Given the description of an element on the screen output the (x, y) to click on. 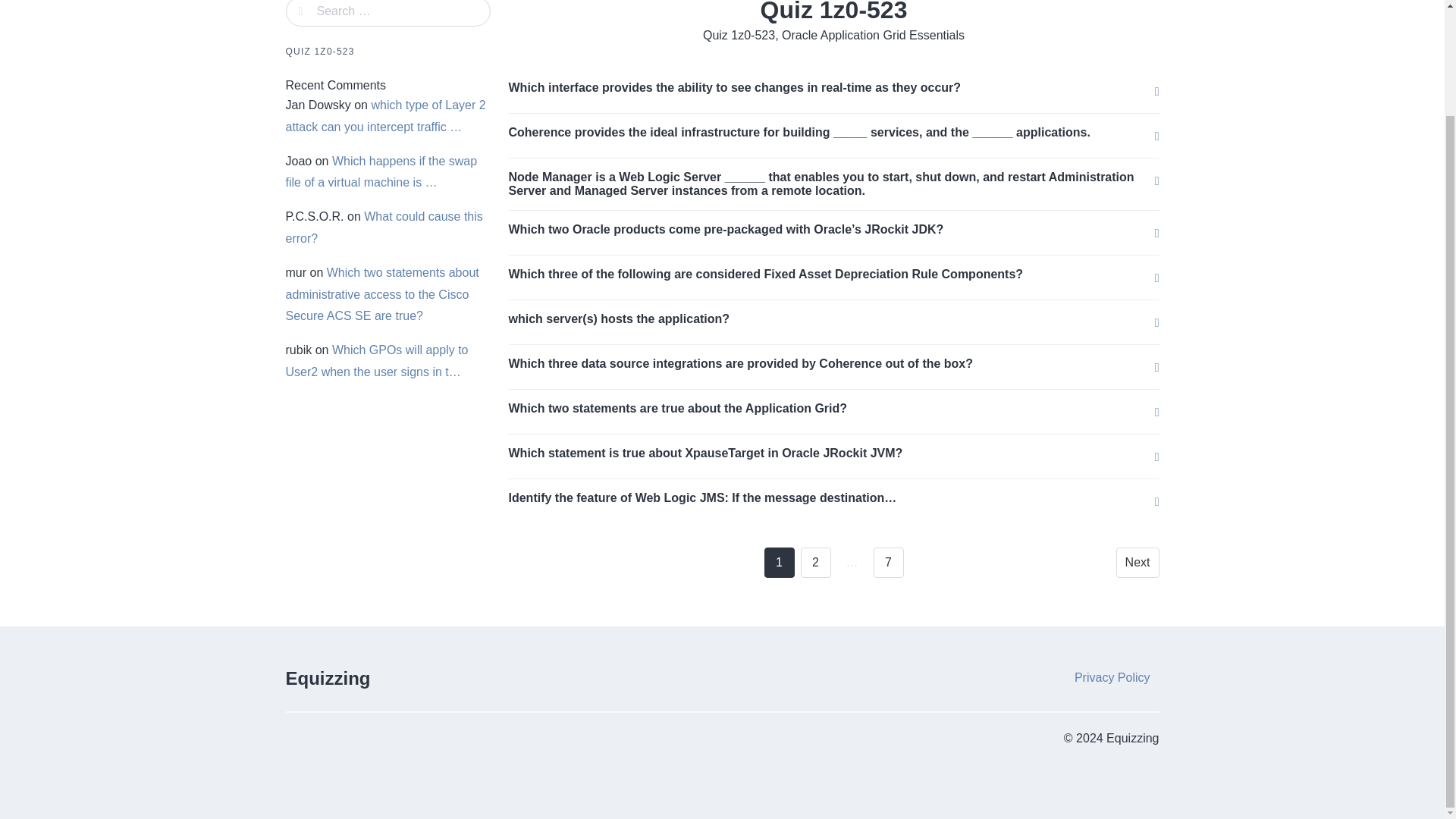
Next (1137, 562)
Privacy Policy (1111, 677)
Which two statements are true about the Application Grid? (677, 408)
7 (888, 562)
What could cause this error? (383, 226)
Equizzing (327, 678)
